Given the description of an element on the screen output the (x, y) to click on. 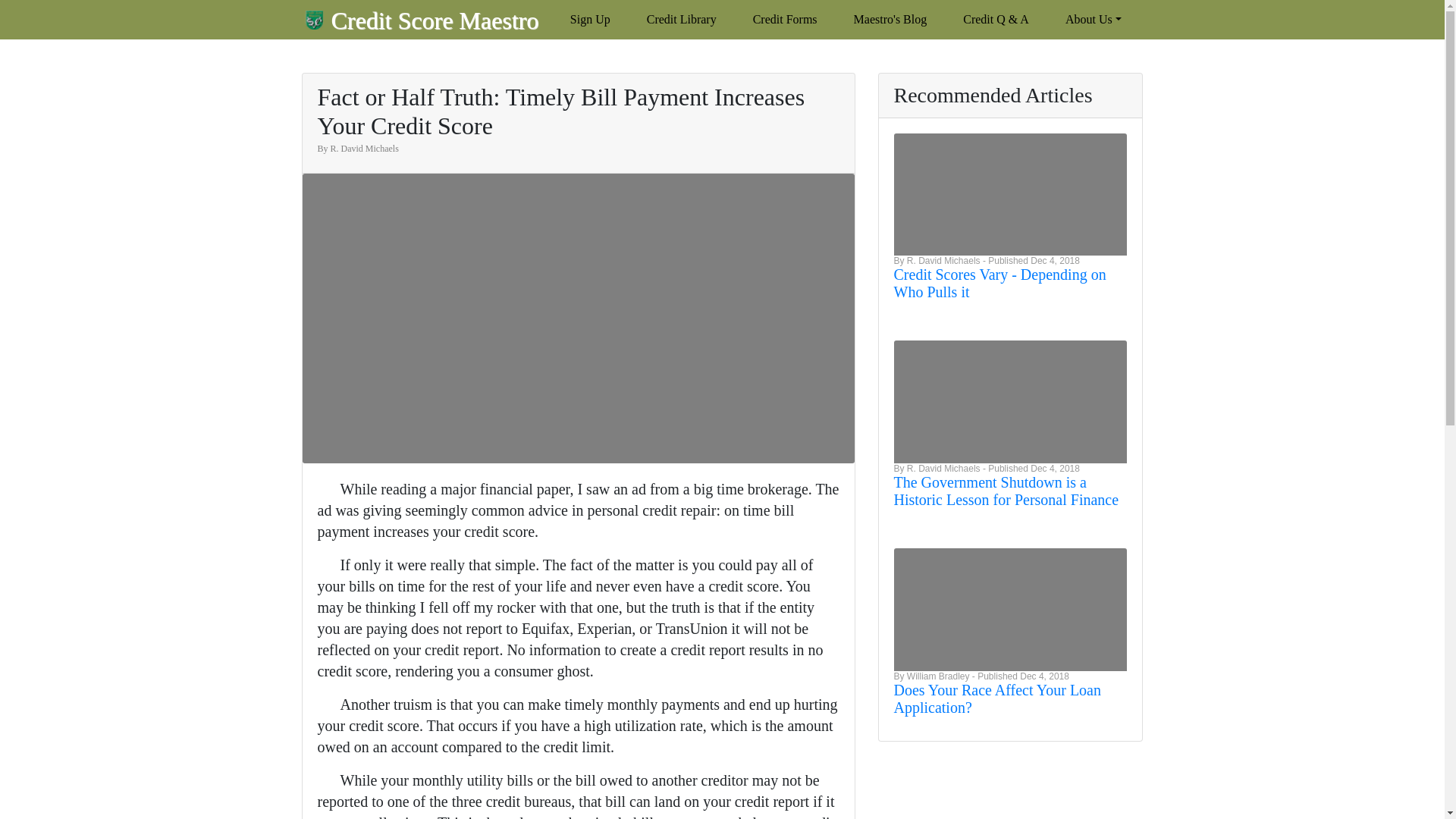
Credit Scores Vary - Depending on Who Pulls it (999, 283)
Does Your Race Affect Your Loan Application? (996, 698)
Credit Score Maestro (422, 19)
Credit Forms (785, 19)
About Us (1094, 19)
Credit Library (681, 19)
Sign Up (590, 19)
Maestro's Blog (890, 19)
